Given the description of an element on the screen output the (x, y) to click on. 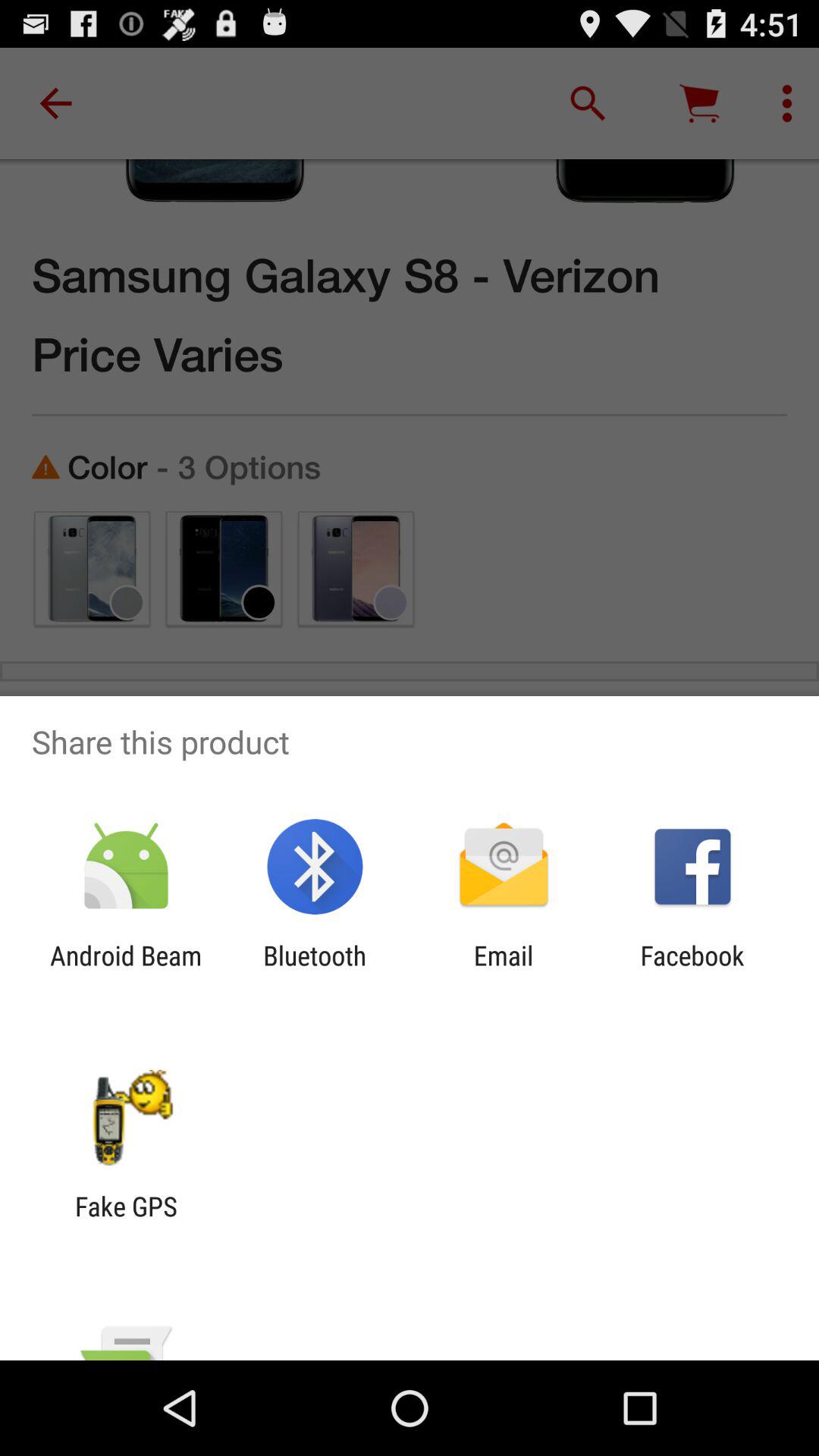
flip to bluetooth app (314, 971)
